Given the description of an element on the screen output the (x, y) to click on. 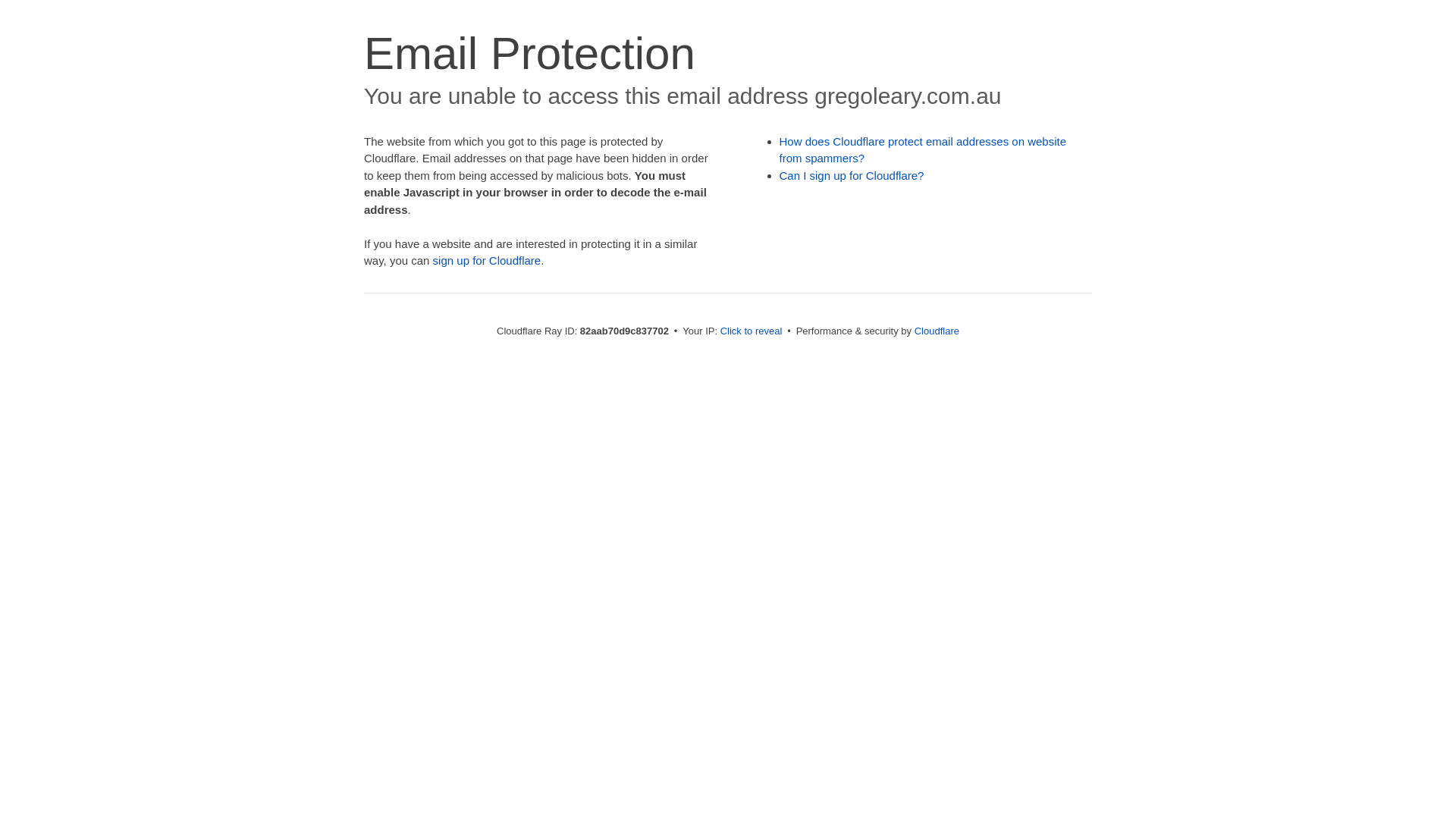
sign up for Cloudflare Element type: text (487, 260)
Can I sign up for Cloudflare? Element type: text (851, 175)
Click to reveal Element type: text (751, 330)
Cloudflare Element type: text (936, 330)
